Given the description of an element on the screen output the (x, y) to click on. 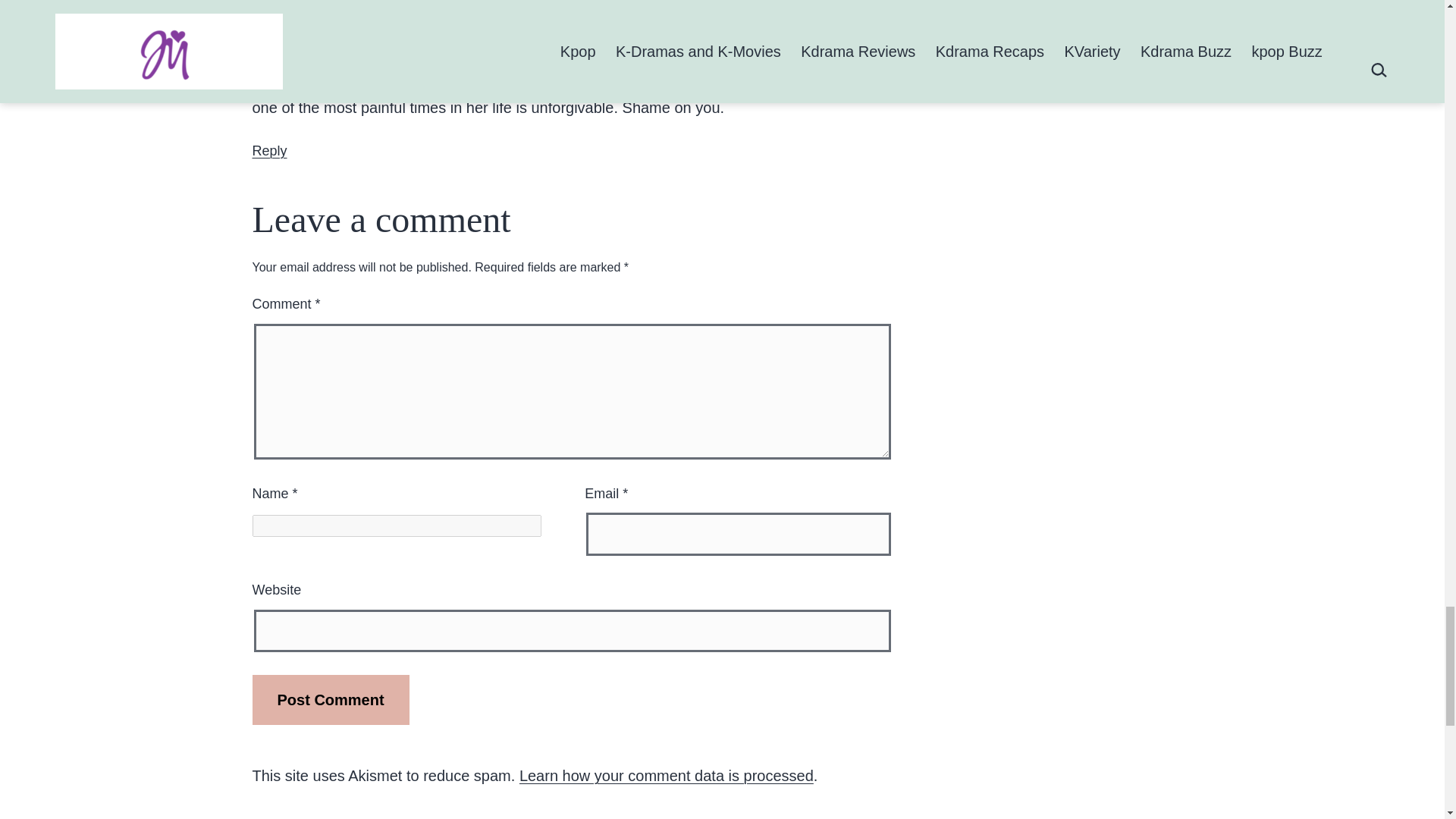
Reply (268, 150)
Learn how your comment data is processed (666, 775)
July 27, 2019 2:53 pm at 2:53 pm (406, 4)
Post Comment (330, 699)
Post Comment (330, 699)
